Given the description of an element on the screen output the (x, y) to click on. 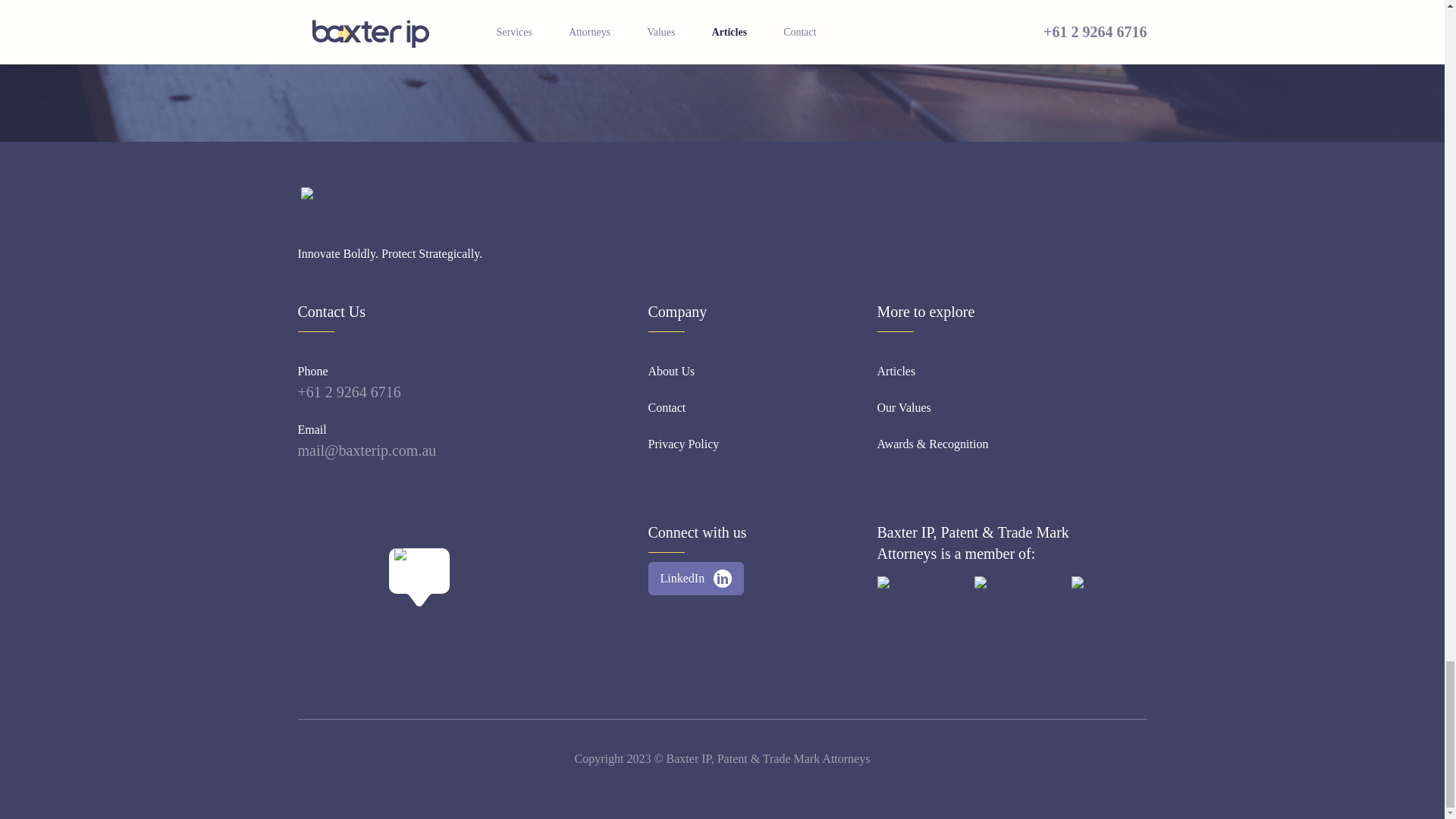
Contact Us (721, 6)
Articles (895, 371)
Privacy Policy (683, 443)
Our Values (903, 407)
LinkedIn (695, 578)
About Us (670, 371)
Contact (666, 407)
